Given the description of an element on the screen output the (x, y) to click on. 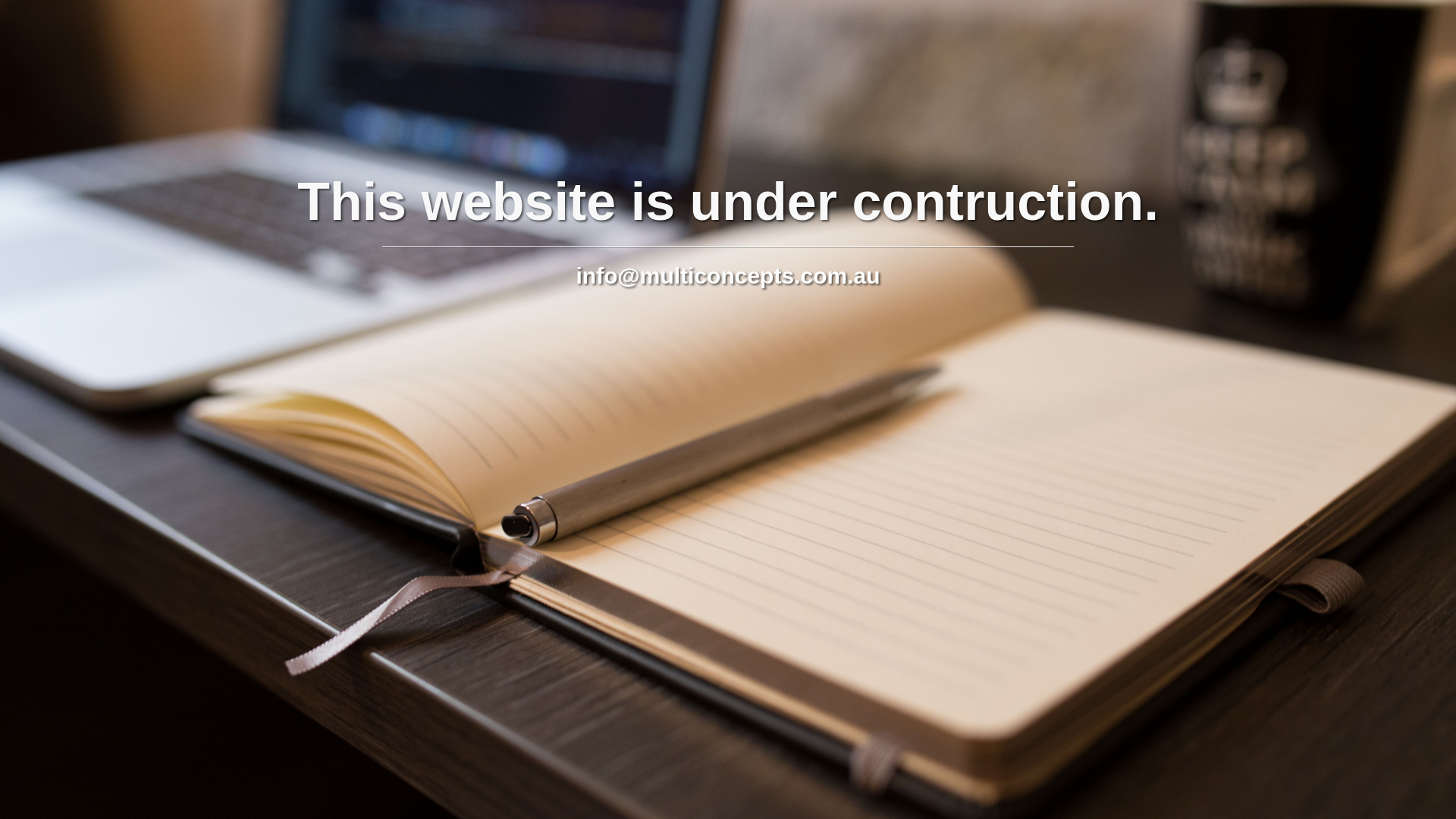
info@multiconcepts.com.au Element type: text (728, 275)
